Given the description of an element on the screen output the (x, y) to click on. 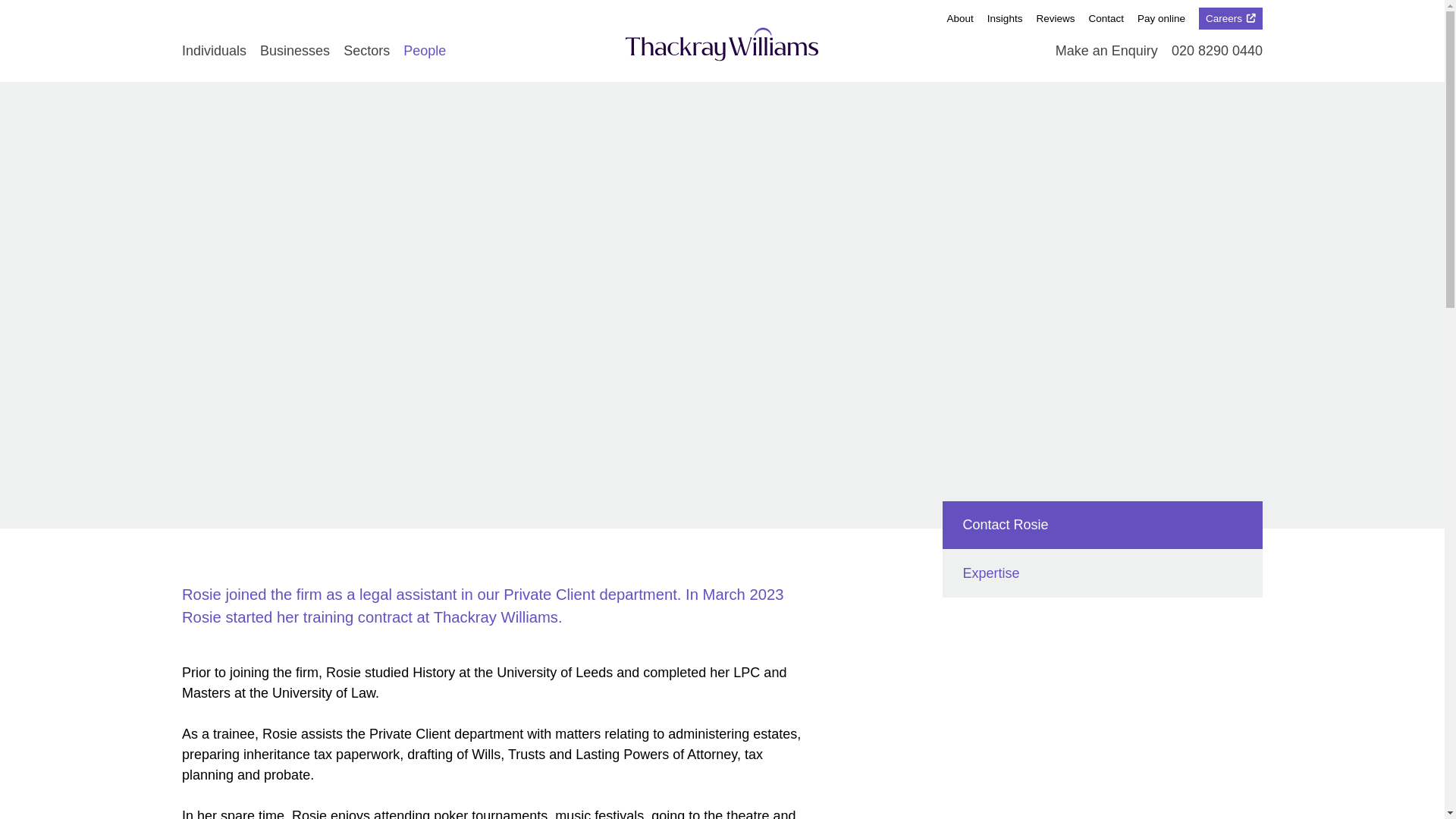
Businesses (295, 50)
People (424, 50)
Careers (1230, 18)
Make an Enquiry (1106, 50)
020 8290 0440 (1217, 50)
Thackray Williams Go to Thackray Williams homepage (722, 44)
About (959, 18)
Thackray Williams Go to Thackray Williams homepage (722, 44)
Sectors (366, 50)
Contact (1105, 18)
